Given the description of an element on the screen output the (x, y) to click on. 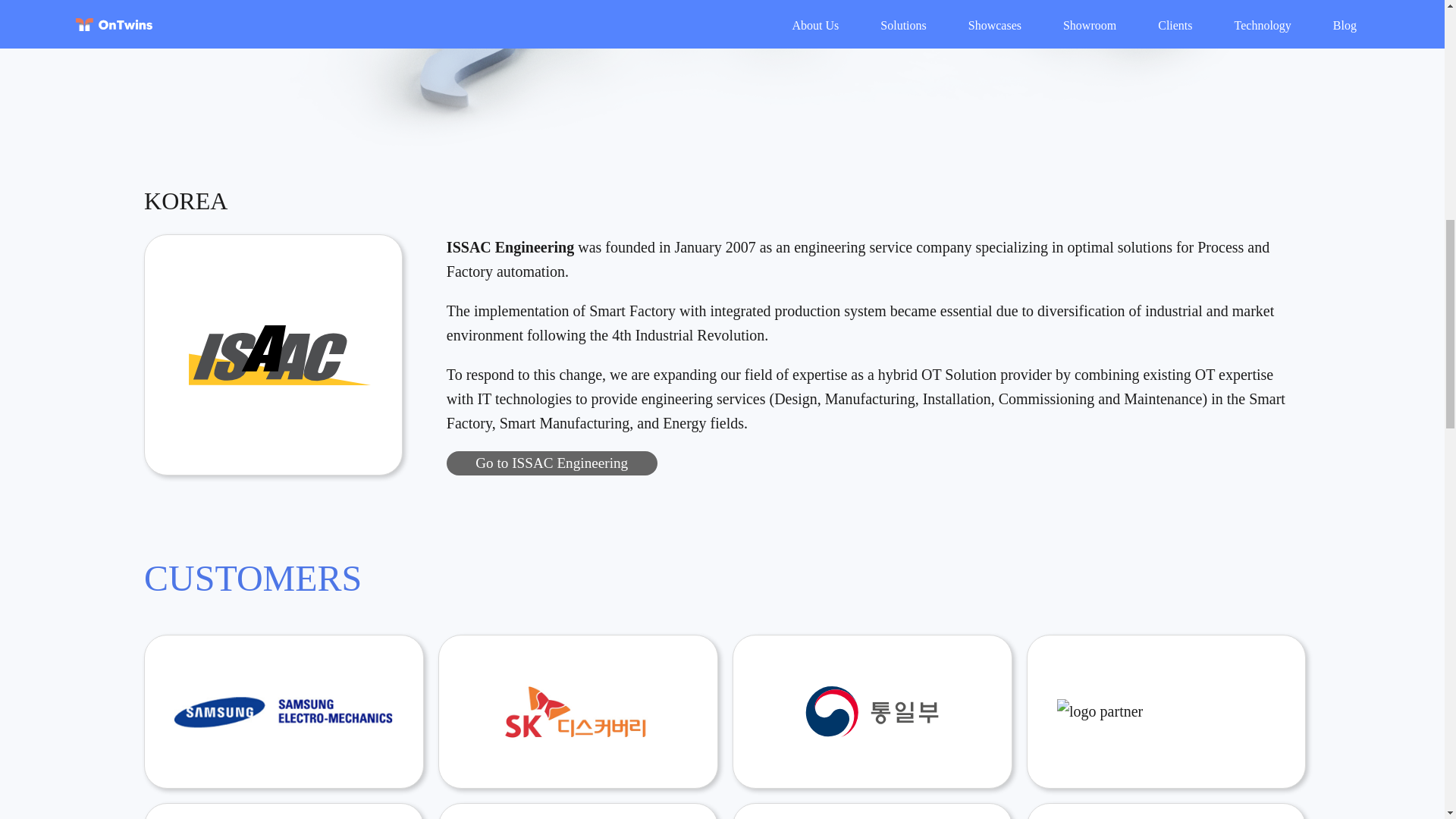
Go to ISSAC Engineering (551, 462)
Go to ISSAC Engineering (552, 463)
